Given the description of an element on the screen output the (x, y) to click on. 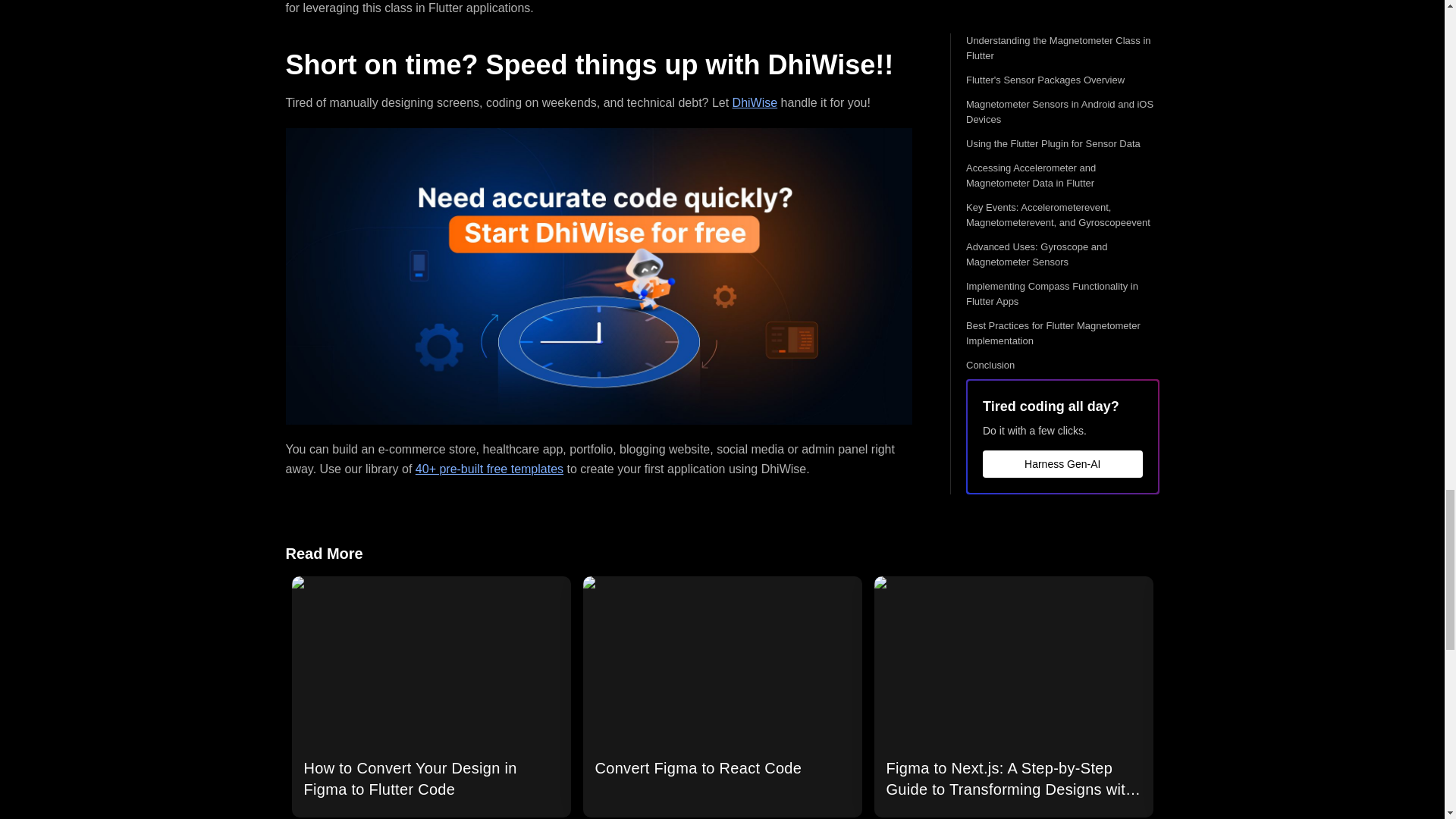
Convert Figma to React Code (721, 696)
DhiWise (754, 102)
How to Convert Your Design in Figma to Flutter Code (430, 696)
